Given the description of an element on the screen output the (x, y) to click on. 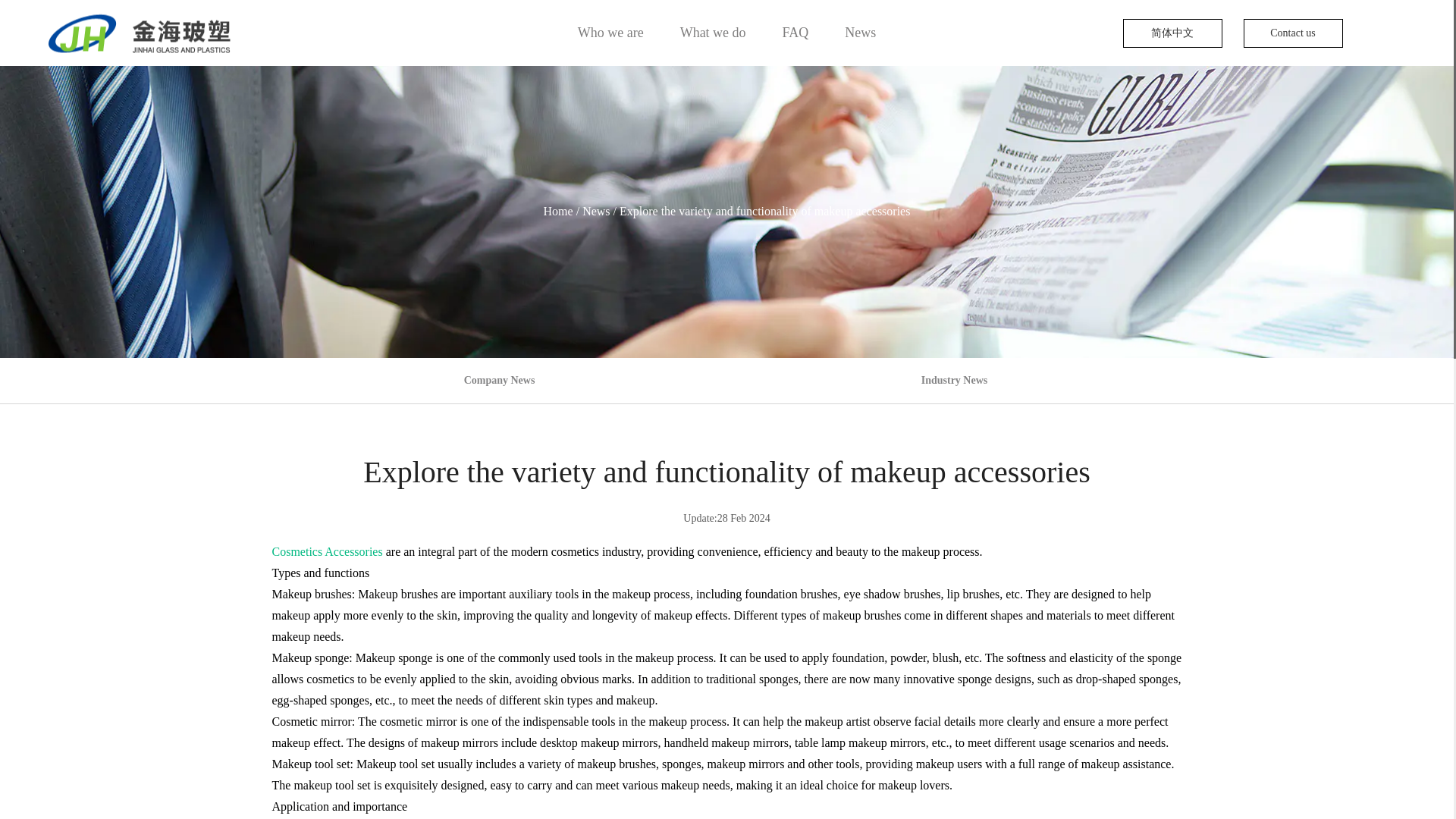
Yuyao Jinhai Glass And Plastic Manufacturing Plant (139, 32)
What we do (712, 32)
Who we are (610, 32)
Contact us (1292, 32)
